Given the description of an element on the screen output the (x, y) to click on. 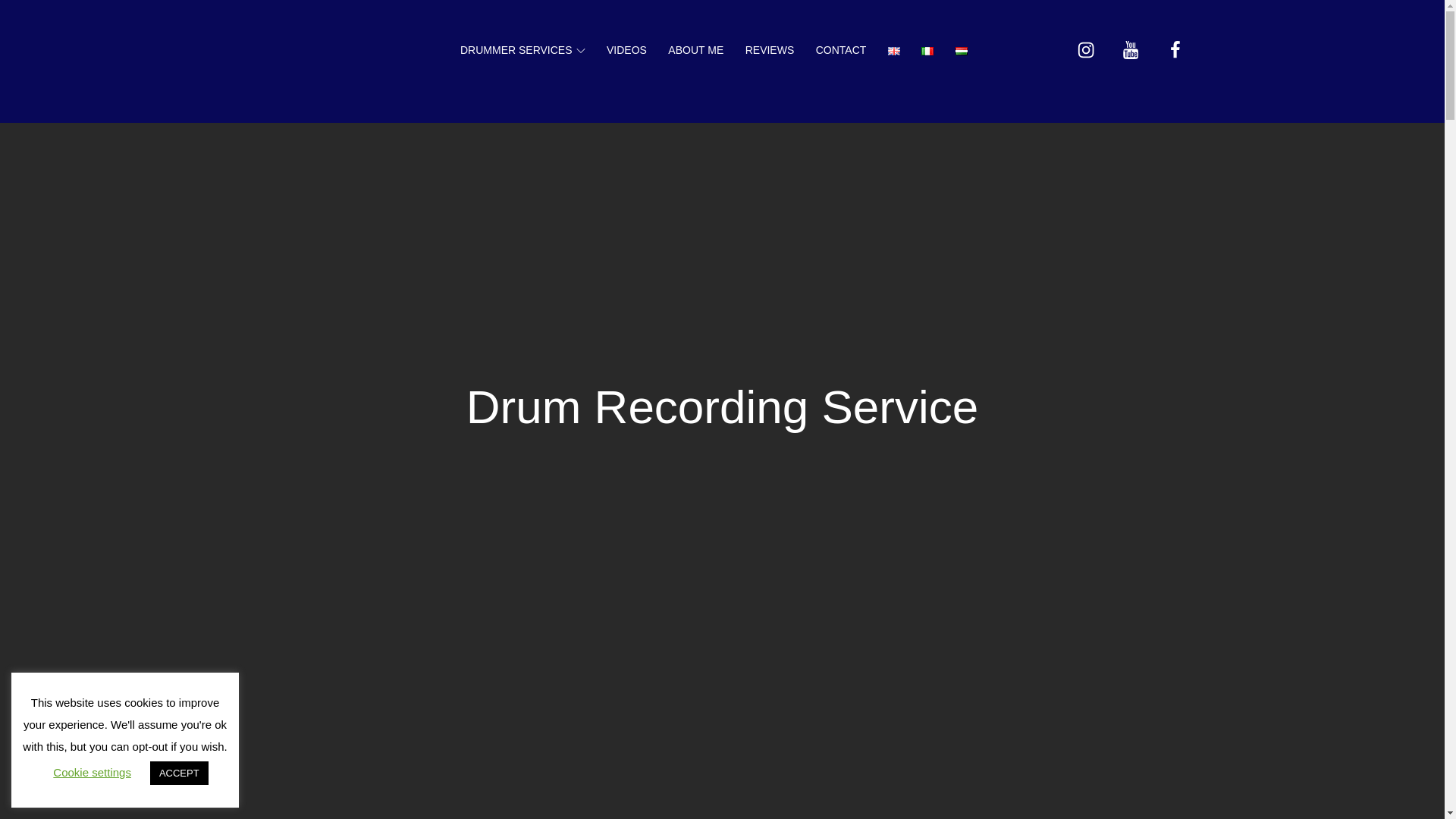
ABOUT ME (695, 49)
CONTACT (841, 49)
DRUMMER SERVICES (522, 49)
CHRISTIAN BRUNI DRUMMER (606, 58)
REVIEWS (769, 49)
VIDEOS (626, 49)
